Given the description of an element on the screen output the (x, y) to click on. 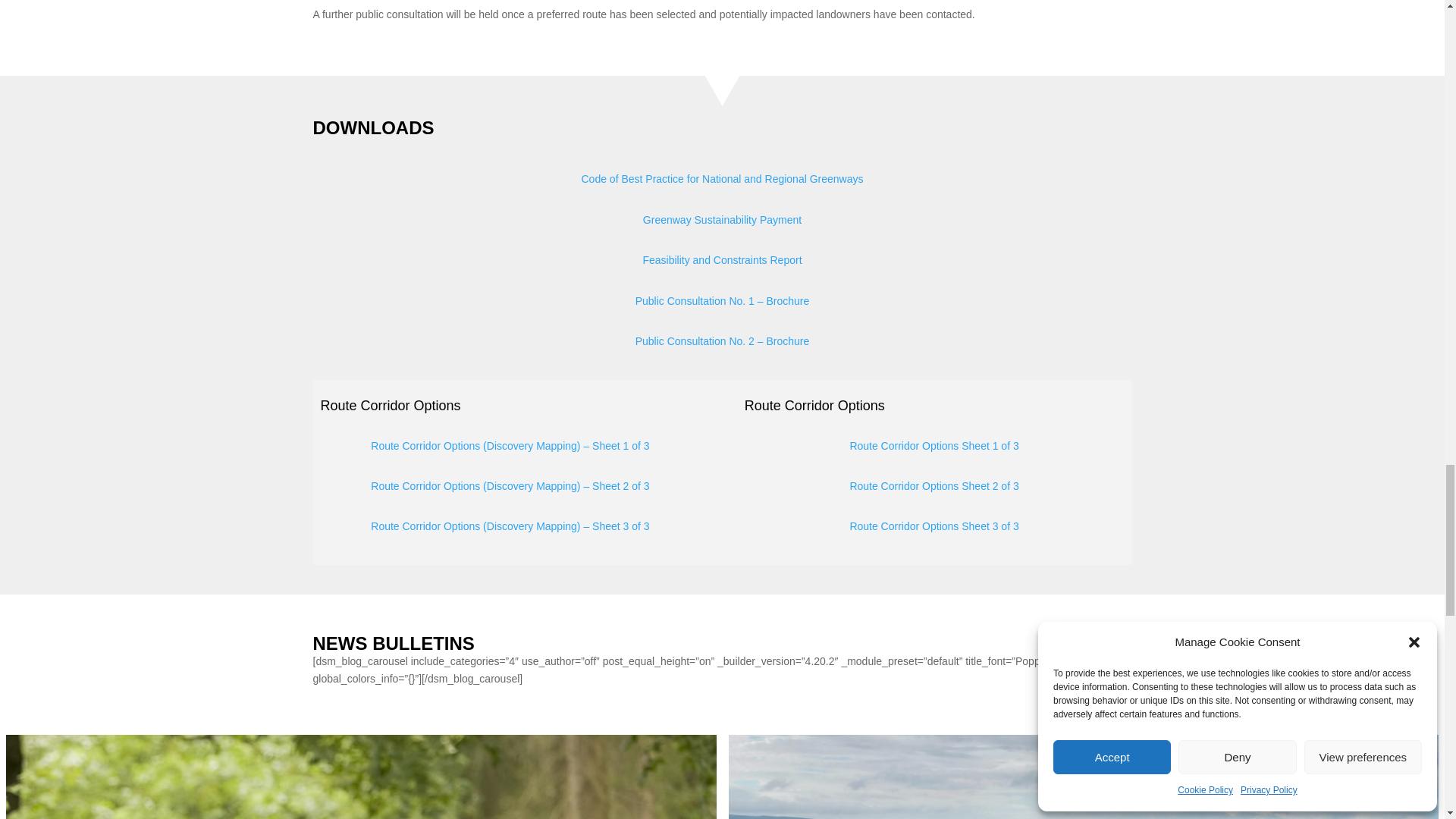
Route Corridor Options Sheet 2 of 3 (932, 485)
Feasibility and Constraints Report (722, 259)
derg4 (361, 773)
Greenway Sustainability Payment (722, 219)
Route Corridor Options Sheet 1 of 3 (932, 445)
Code of Best Practice for National and Regional Greenways (721, 178)
Route Corridor Options Sheet 3 of 3 (932, 526)
